Given the description of an element on the screen output the (x, y) to click on. 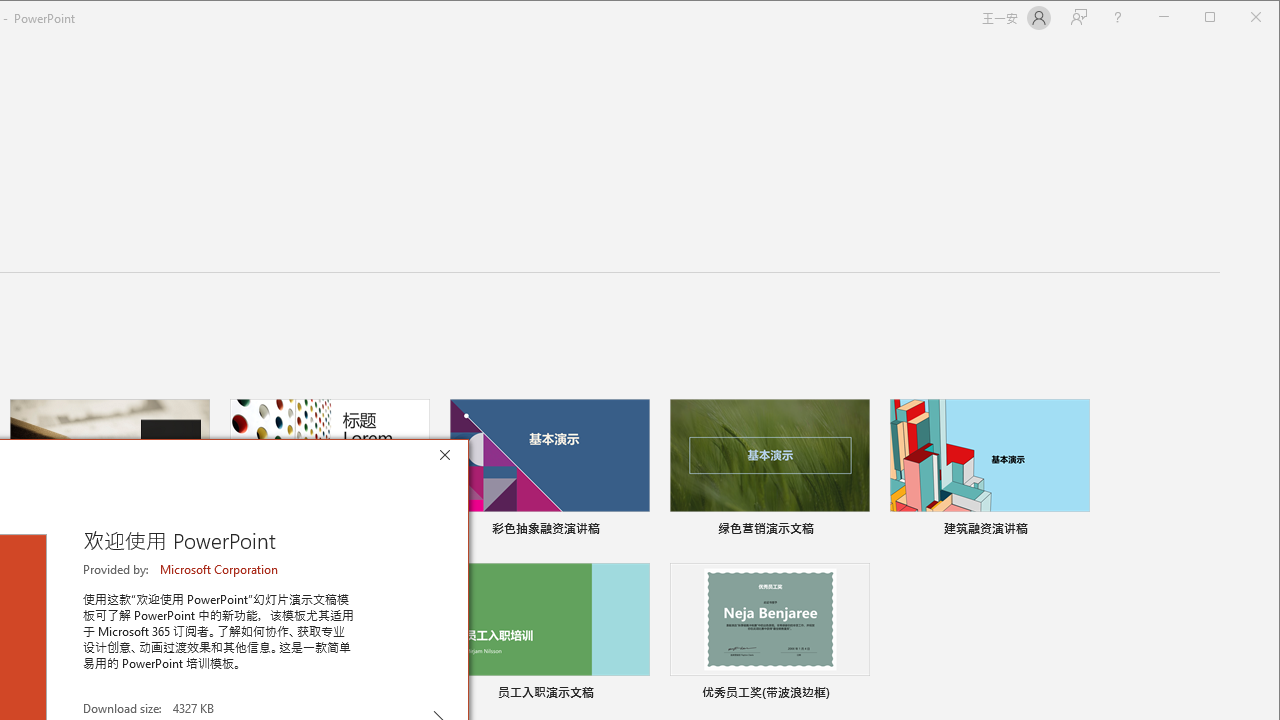
Pin to list (856, 695)
Maximize (1238, 18)
Microsoft Corporation (220, 569)
